Given the description of an element on the screen output the (x, y) to click on. 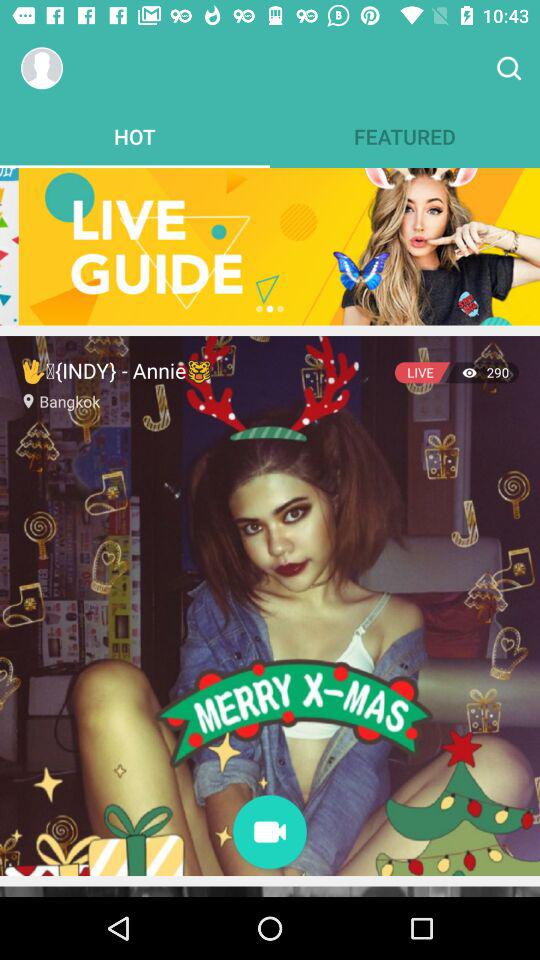
record video (269, 834)
